Given the description of an element on the screen output the (x, y) to click on. 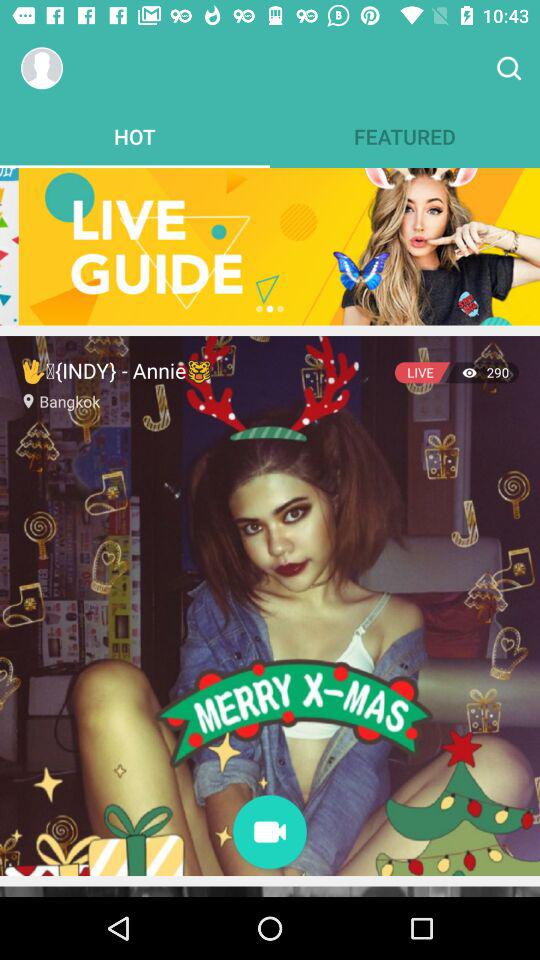
record video (269, 834)
